Given the description of an element on the screen output the (x, y) to click on. 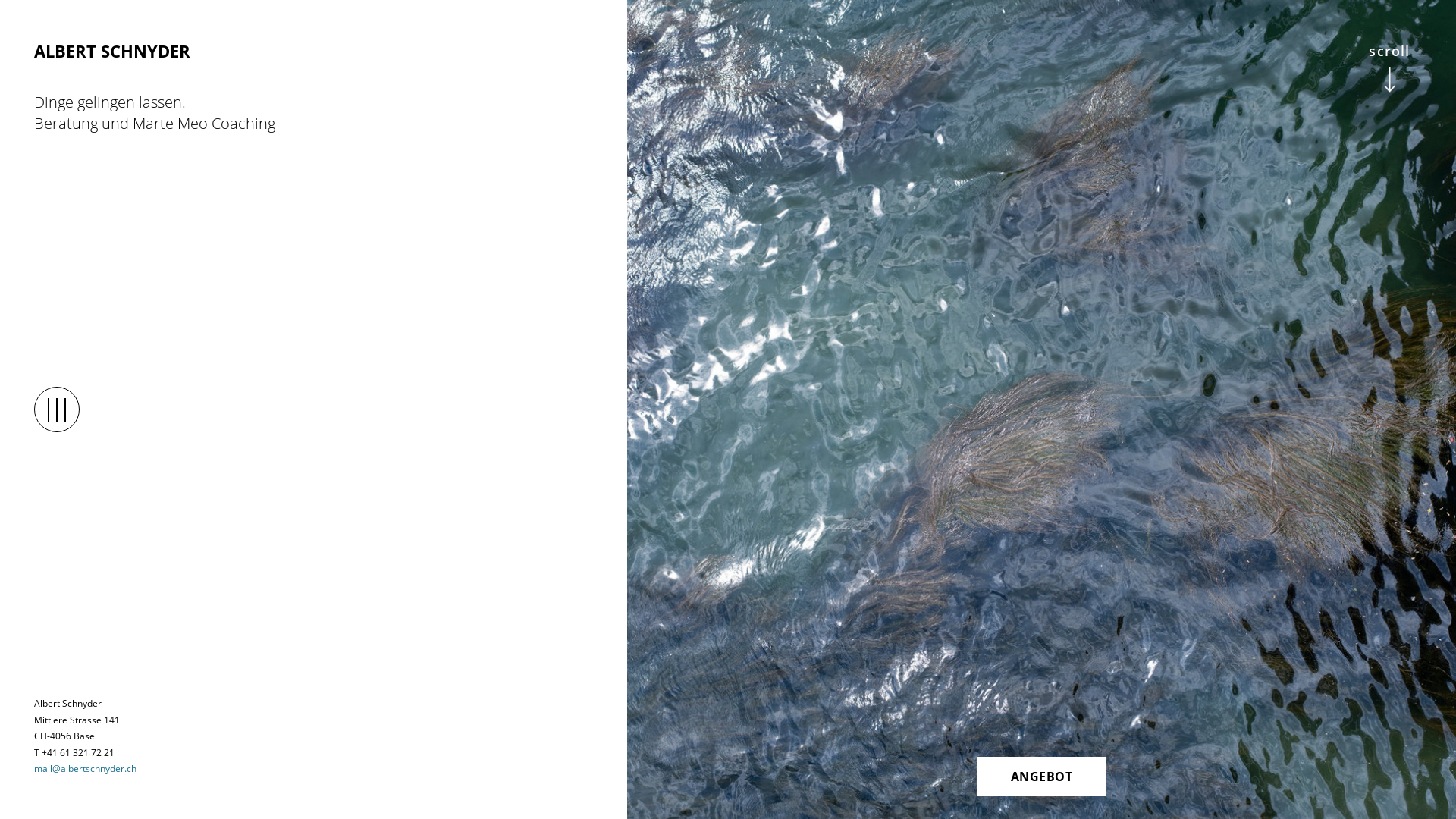
mail@albertschnyder.ch Element type: text (85, 768)
ALBERT SCHNYDER Element type: text (313, 50)
